Given the description of an element on the screen output the (x, y) to click on. 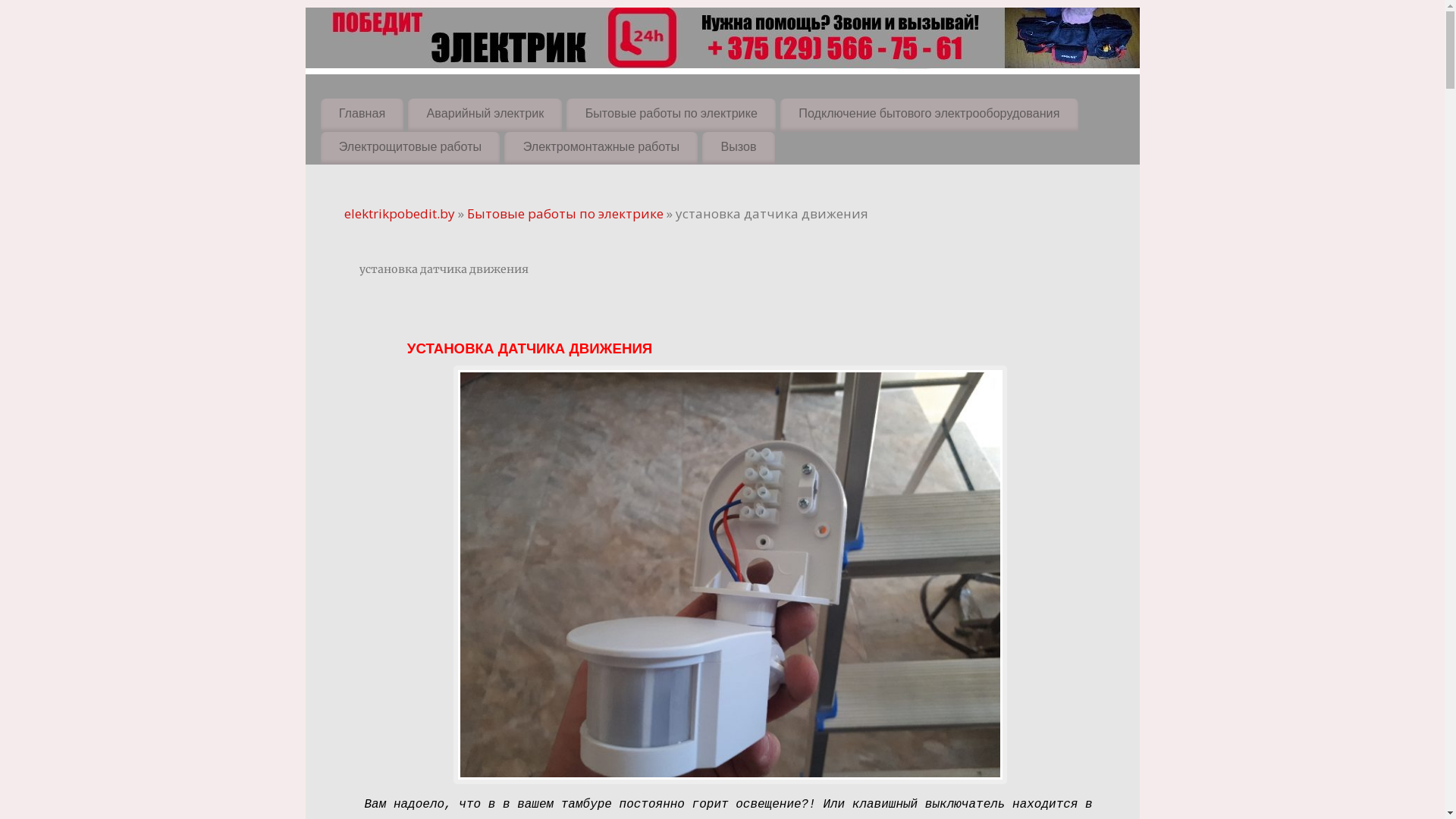
elektrikpobedit.by Element type: text (399, 213)
